Given the description of an element on the screen output the (x, y) to click on. 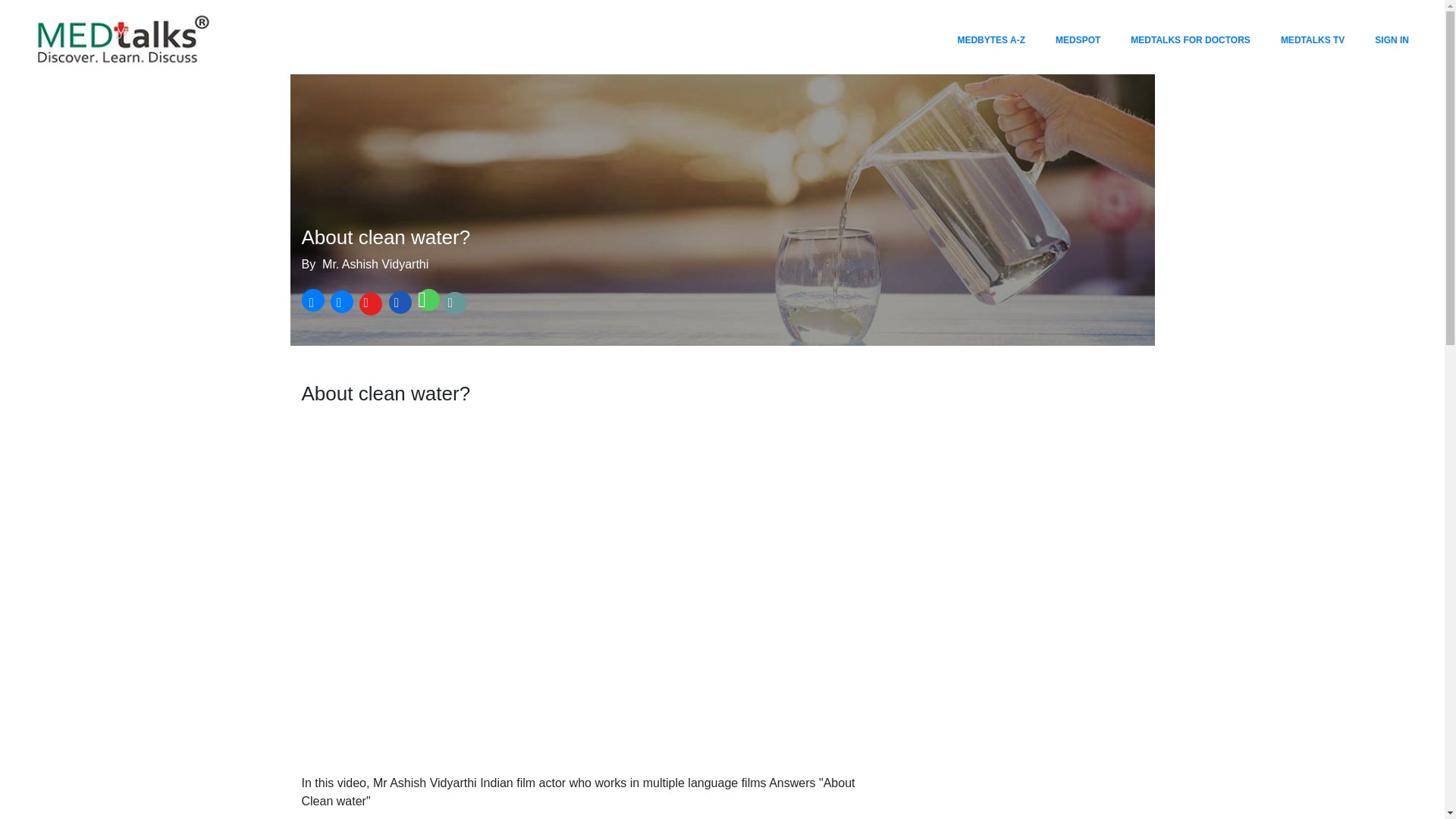
MEDSPOT (1077, 40)
share on Reddit (454, 302)
SIGN IN (1391, 40)
share on Facebook (312, 302)
share on Linkdin (398, 302)
MEDTALKS TV (1313, 40)
MEDTALKS FOR DOCTORS (1190, 40)
share on twitter (340, 302)
share on Google-plus (368, 302)
